Given the description of an element on the screen output the (x, y) to click on. 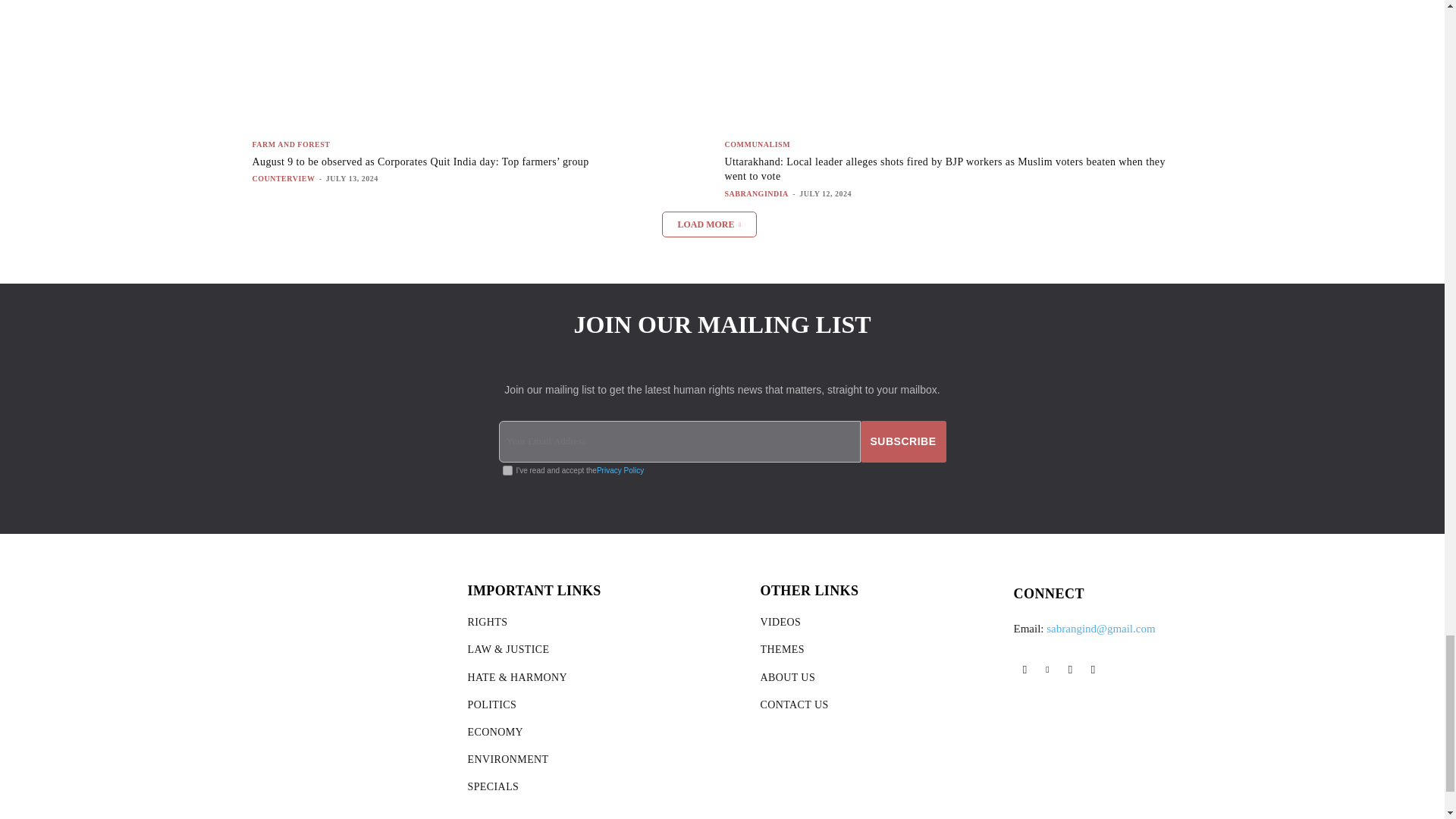
Subscribe (903, 441)
on (507, 470)
